Given the description of an element on the screen output the (x, y) to click on. 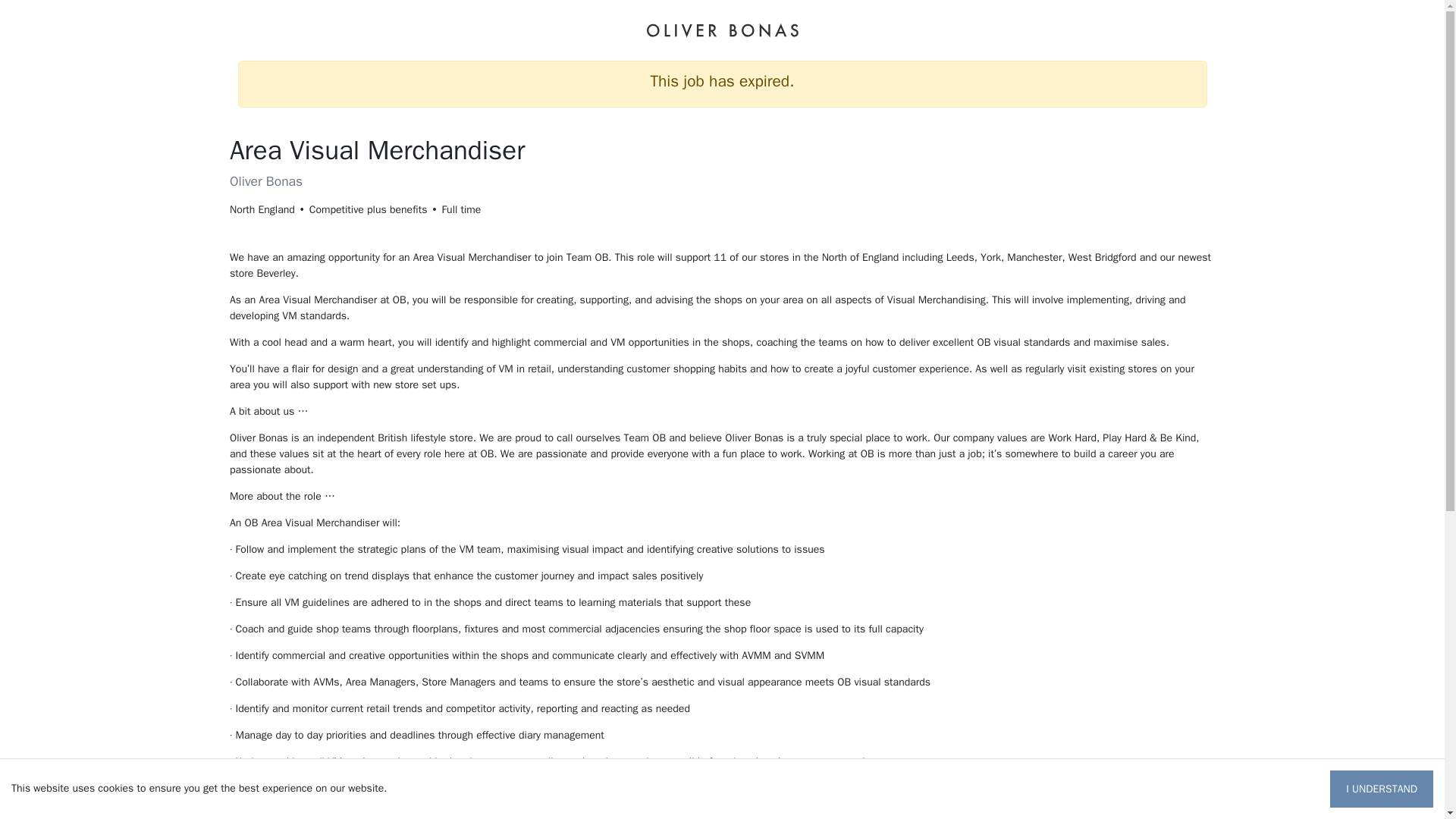
I UNDERSTAND (1381, 788)
